Given the description of an element on the screen output the (x, y) to click on. 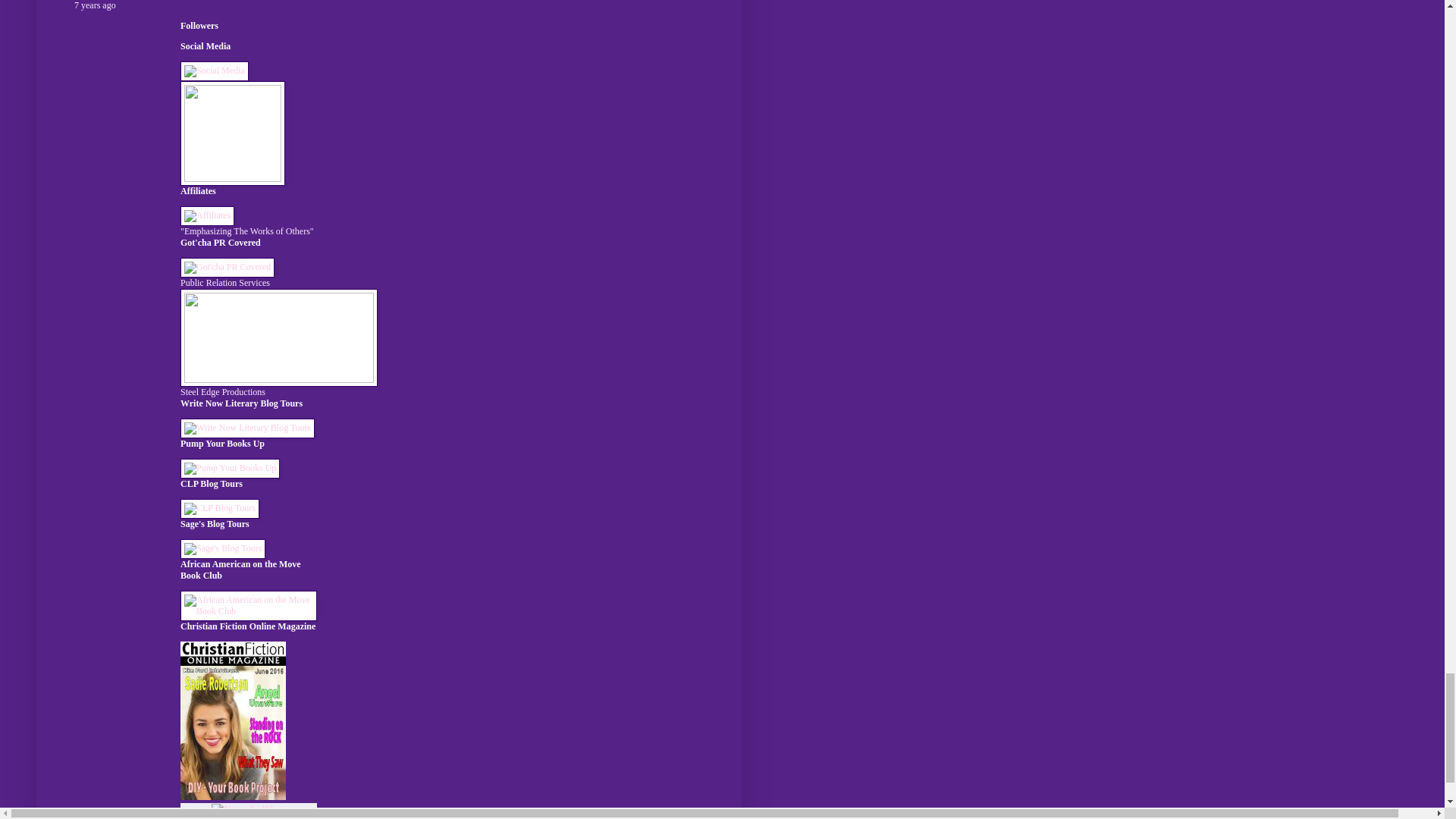
NetworkedBlogs (248, 808)
NetworkedBlogs (248, 809)
